Given the description of an element on the screen output the (x, y) to click on. 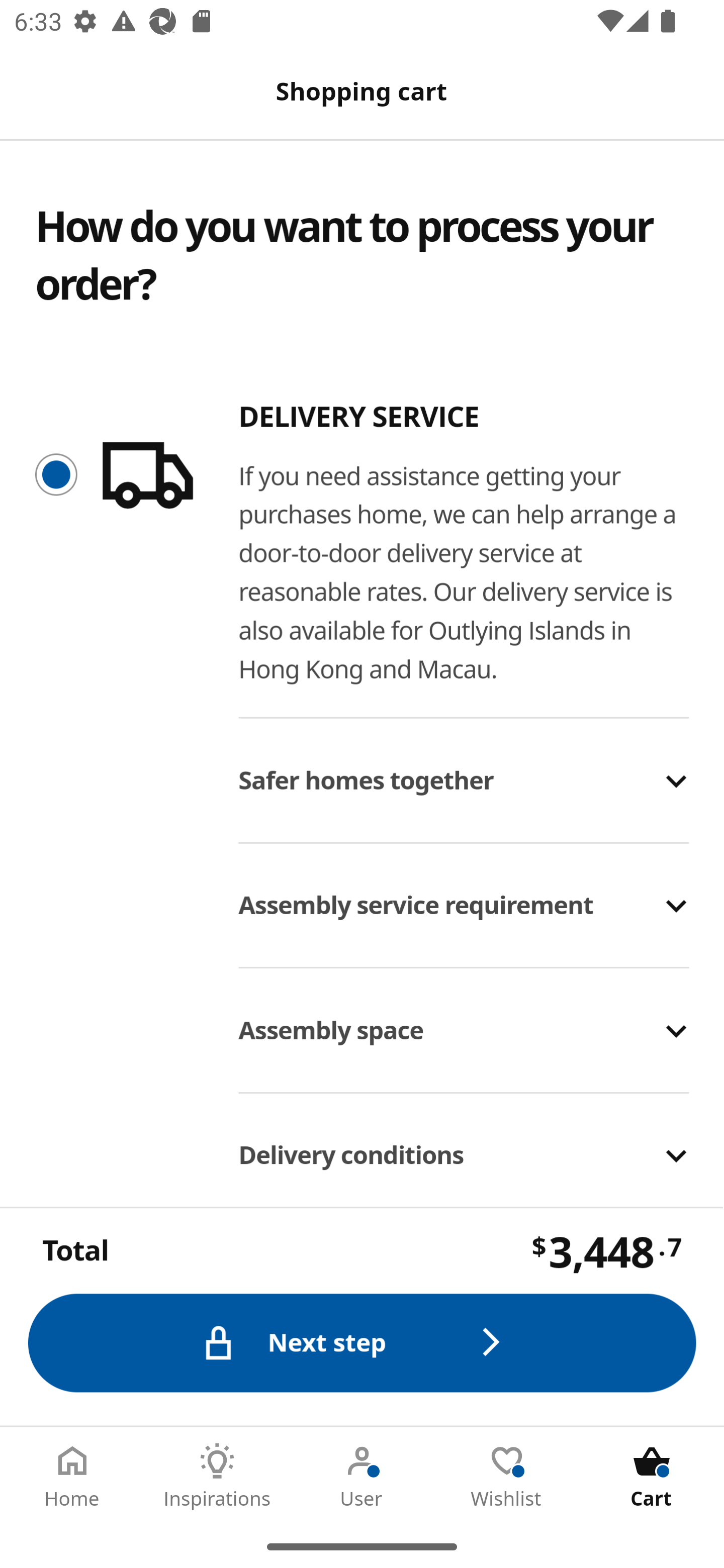
Safer homes together  Safer homes together  (464, 764)
Assembly space  Assembly space  (464, 1014)
Delivery conditions  Delivery conditions  (464, 1139)
Home
Tab 1 of 5 (72, 1476)
Inspirations
Tab 2 of 5 (216, 1476)
User
Tab 3 of 5 (361, 1476)
Wishlist
Tab 4 of 5 (506, 1476)
Cart
Tab 5 of 5 (651, 1476)
